Given the description of an element on the screen output the (x, y) to click on. 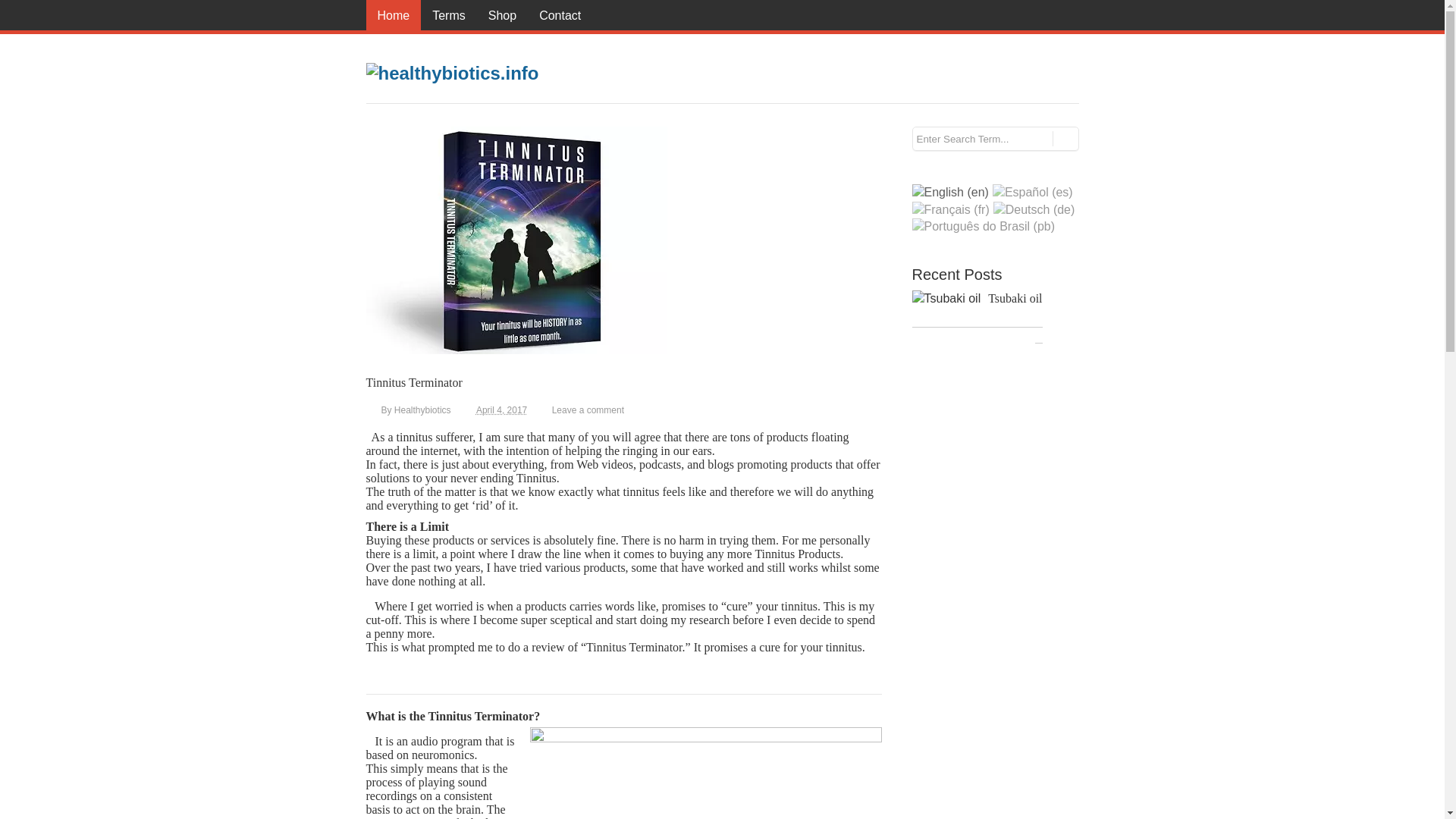
Tsubaki oil (945, 298)
healthybiotics.info (451, 73)
Healthybiotics (422, 409)
Terms (448, 15)
View all articles by Healthybiotics (422, 409)
Home (392, 15)
Shop (502, 15)
Contact (559, 15)
Tsubaki oil (1015, 297)
Leave a comment (587, 409)
Enter Search Term... (980, 138)
